Given the description of an element on the screen output the (x, y) to click on. 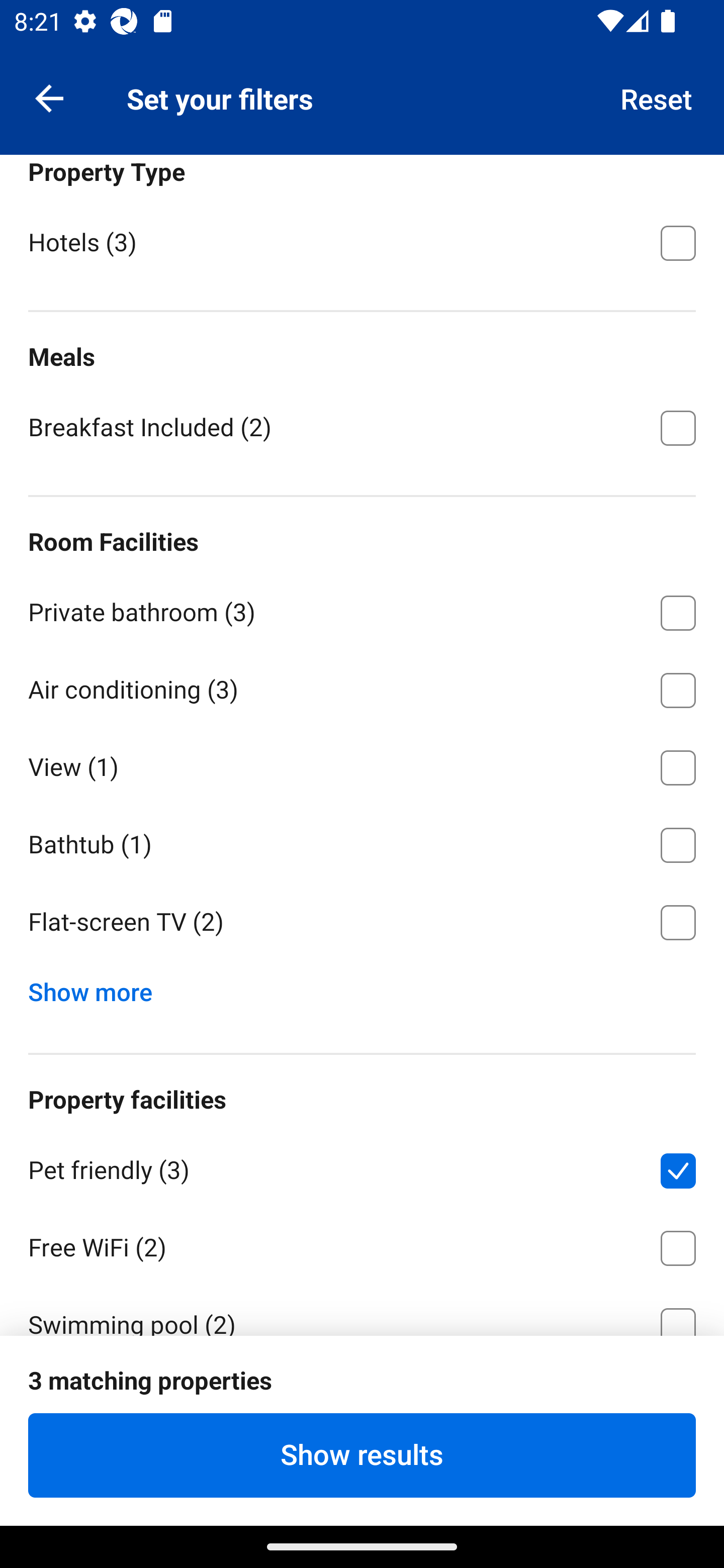
Navigate up (49, 97)
Reset (656, 97)
Hotels ⁦(3) (361, 241)
Breakfast Included ⁦(2) (361, 426)
Private bathroom ⁦(3) (361, 608)
Air conditioning ⁦(3) (361, 686)
View ⁦(1) (361, 763)
Bathtub ⁦(1) (361, 841)
Flat-screen TV ⁦(2) (361, 922)
Show more (97, 987)
Pet friendly ⁦(3) (361, 1166)
Free WiFi ⁦(2) (361, 1244)
Swimming pool ⁦(2) (361, 1309)
Parking ⁦(2) (361, 1399)
Show results (361, 1454)
